Given the description of an element on the screen output the (x, y) to click on. 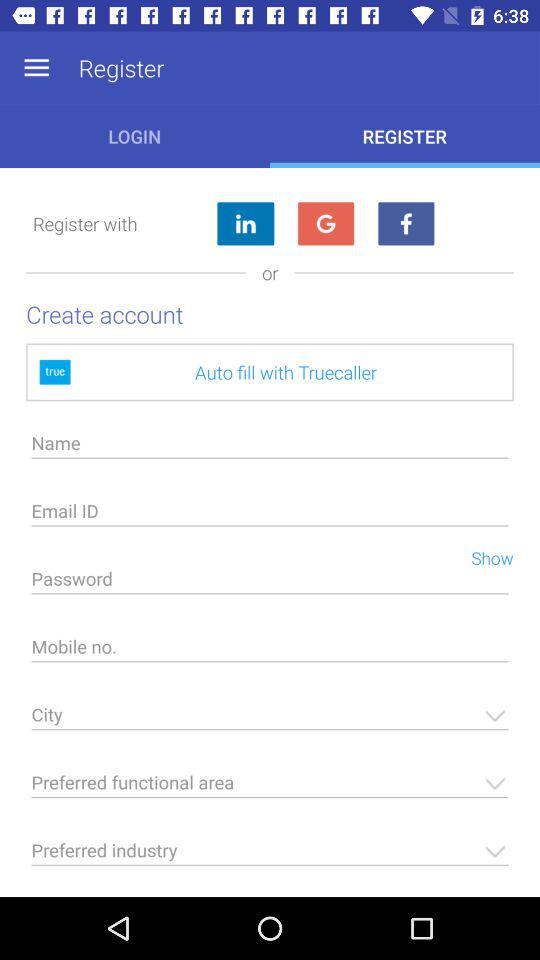
enter password (269, 584)
